Given the description of an element on the screen output the (x, y) to click on. 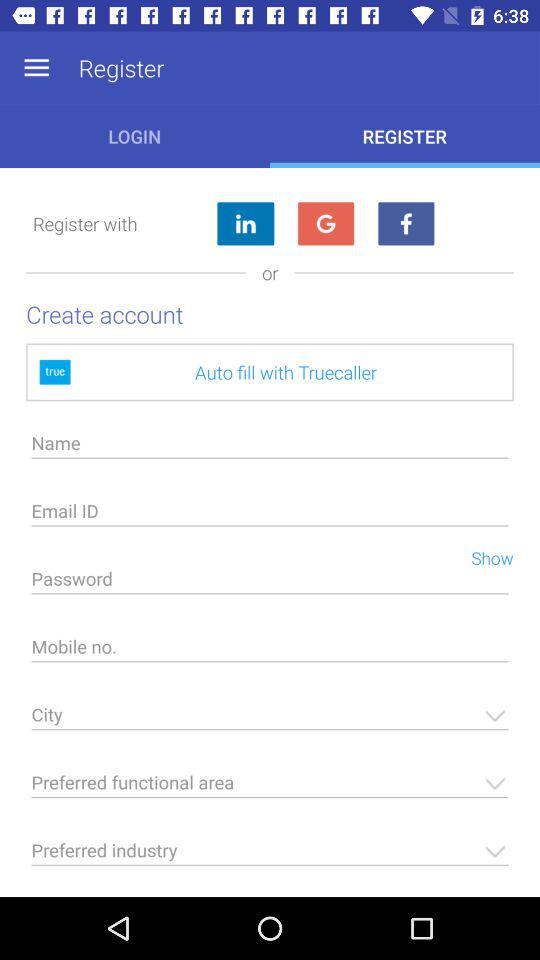
enter password (269, 584)
